Given the description of an element on the screen output the (x, y) to click on. 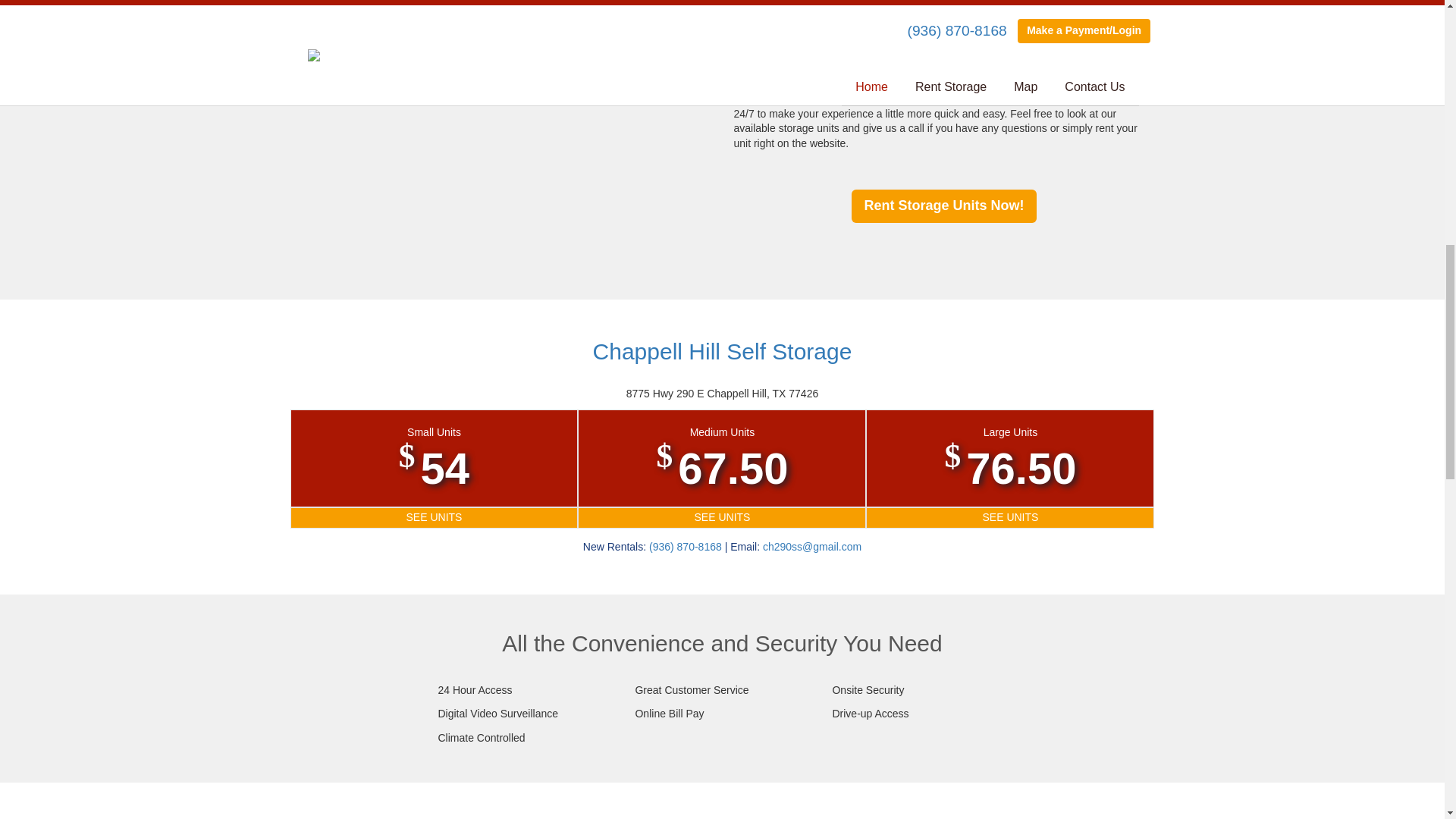
SEE UNITS (434, 516)
SEE UNITS (1009, 516)
Rent Storage Units Now! (943, 205)
Chappell Hill Self Storage (721, 351)
SEE UNITS (721, 516)
